Given the description of an element on the screen output the (x, y) to click on. 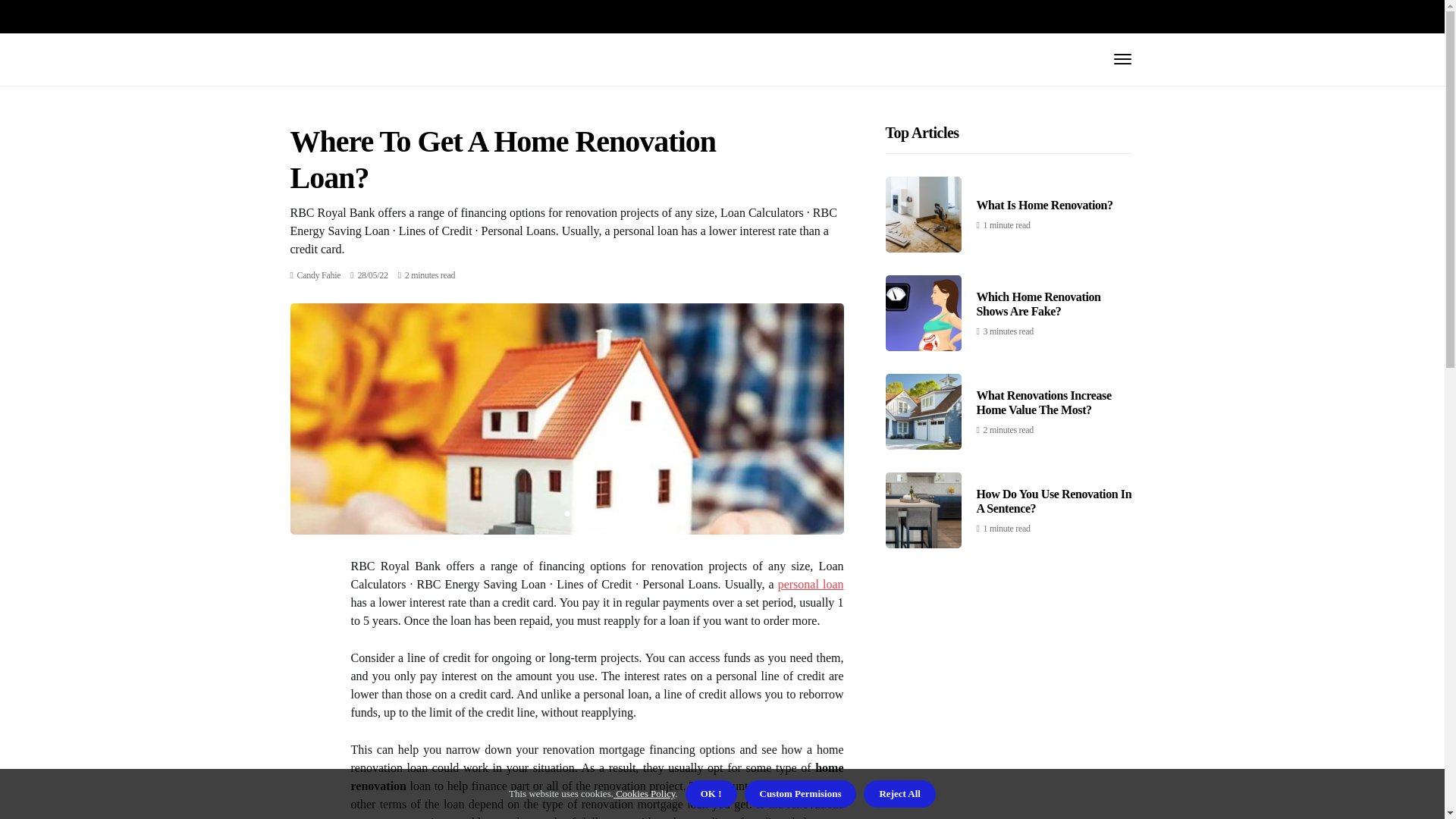
What Renovations Increase Home Value The Most? (1044, 402)
personal loan (810, 584)
Which Home Renovation Shows Are Fake? (1038, 303)
Candy Fahie (318, 275)
Posts by Candy Fahie (318, 275)
How Do You Use Renovation In A Sentence? (1054, 501)
What Is Home Renovation? (1044, 205)
